Given the description of an element on the screen output the (x, y) to click on. 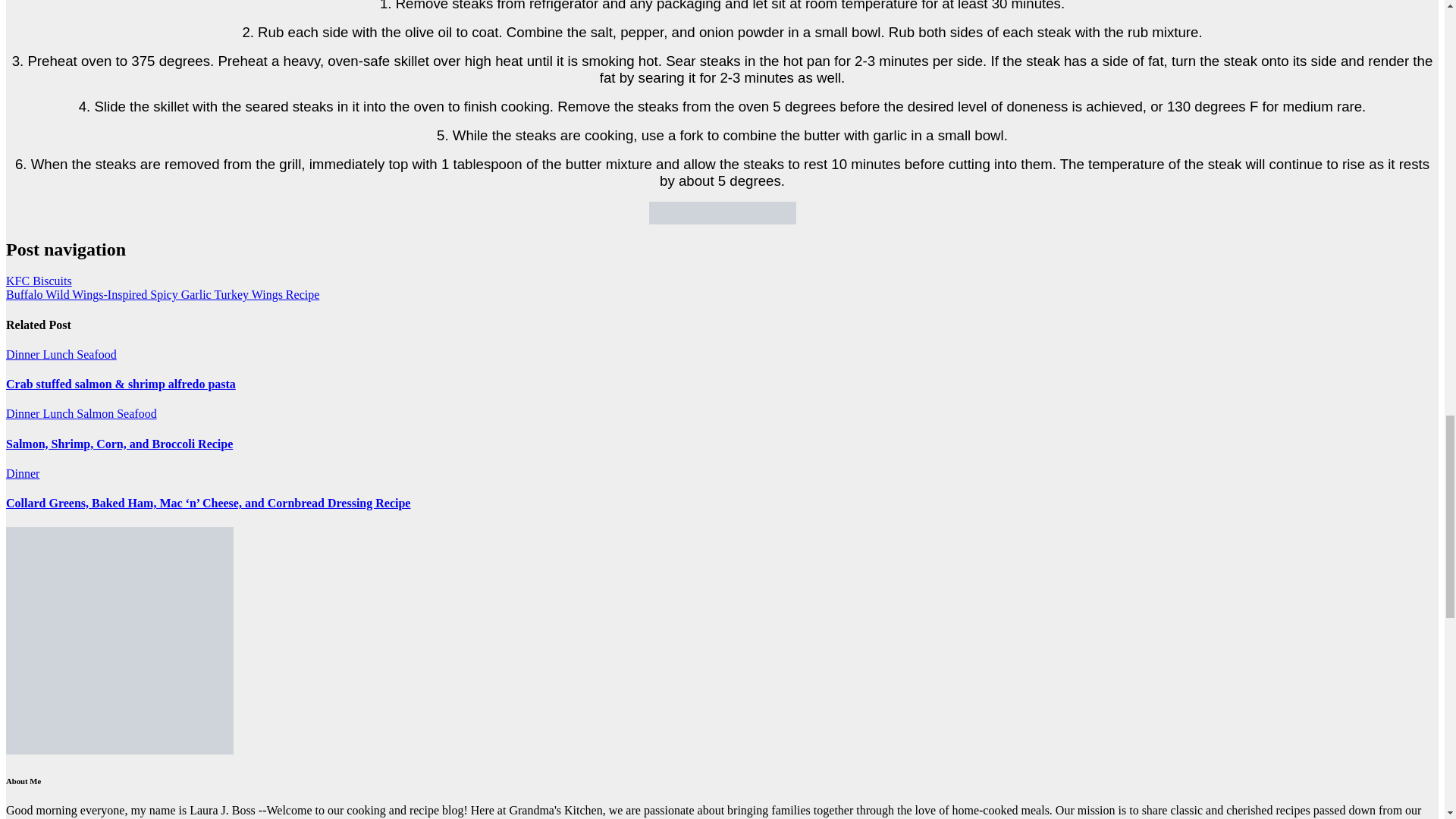
Permalink to: Salmon, Shrimp, Corn, and Broccoli Recipe (118, 443)
